Given the description of an element on the screen output the (x, y) to click on. 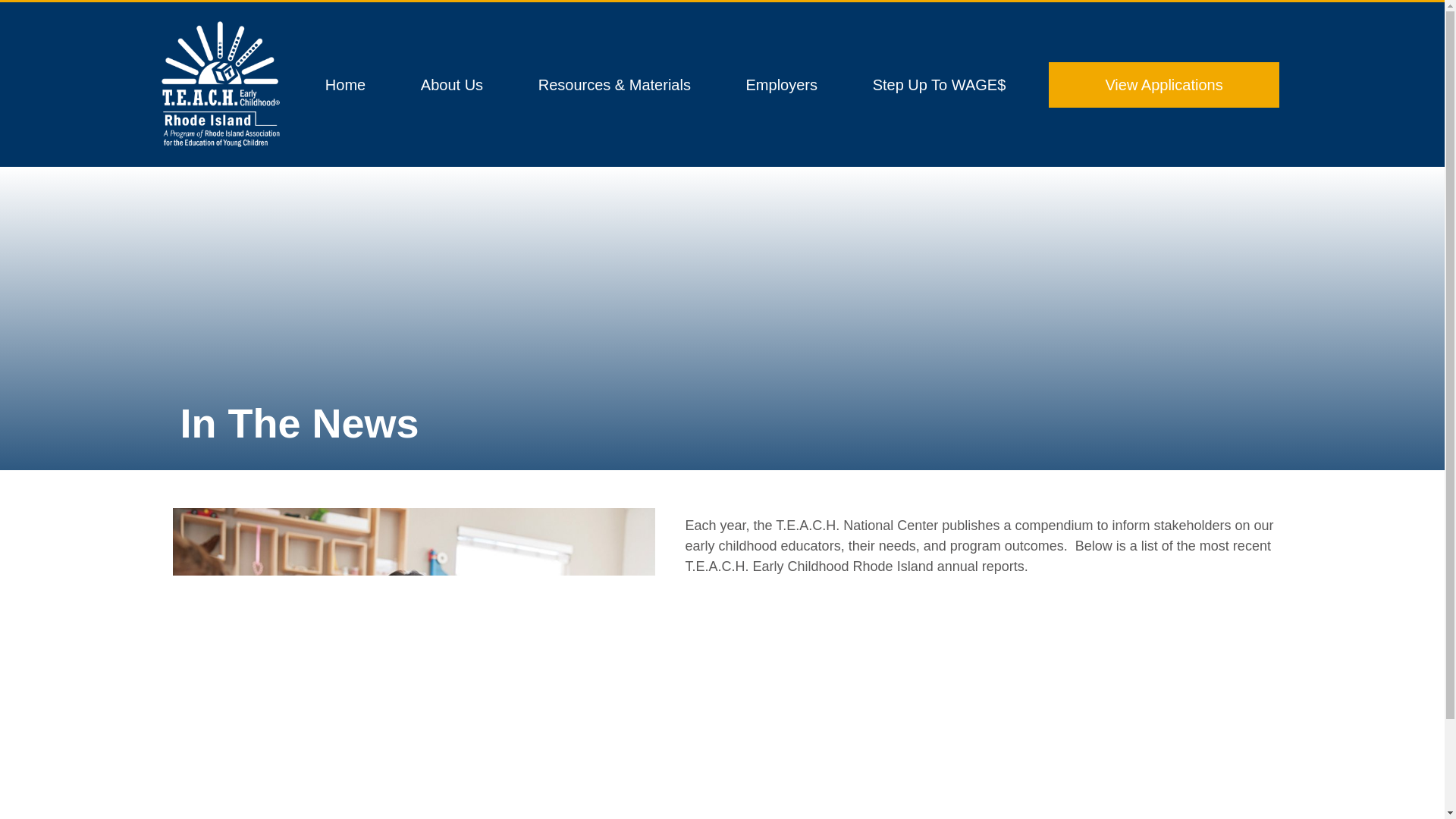
Home (345, 84)
Employers (780, 84)
View Applications (1163, 84)
About Us (452, 84)
